Given the description of an element on the screen output the (x, y) to click on. 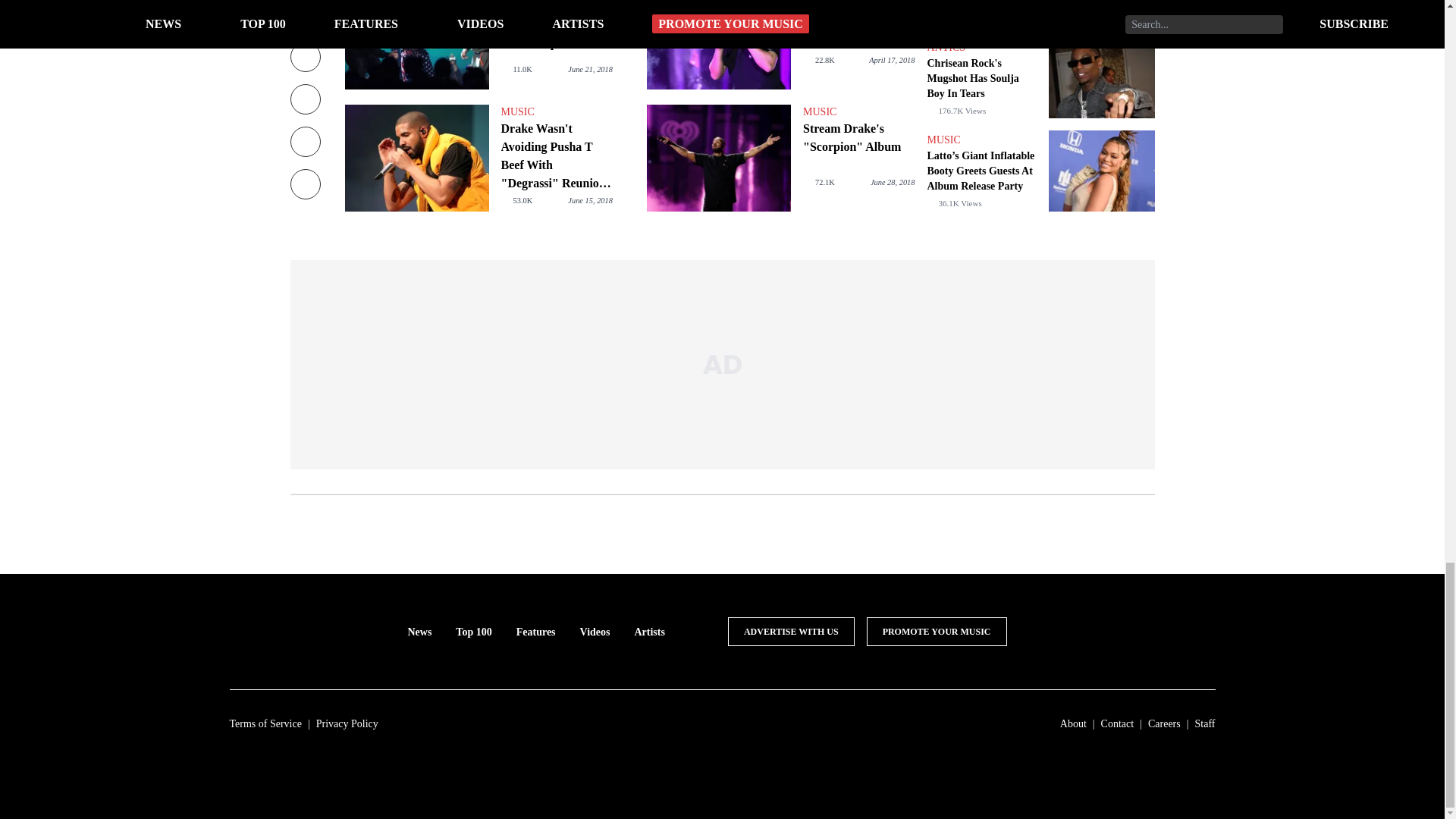
Drake's "Scorpion": Everything We Know (718, 44)
Stream Drake's "Scorpion" Album (718, 157)
DJ Khaled Teases A Drake Collaboration On "Scorpion" (415, 44)
June 15, 2018 (589, 200)
April 17, 2018 (891, 60)
June 21, 2018 (589, 69)
Stream Drake's "Scorpion" Album (858, 137)
MUSIC (858, 111)
DJ Khaled Teases A Drake Collaboration On "Scorpion" (555, 26)
